Given the description of an element on the screen output the (x, y) to click on. 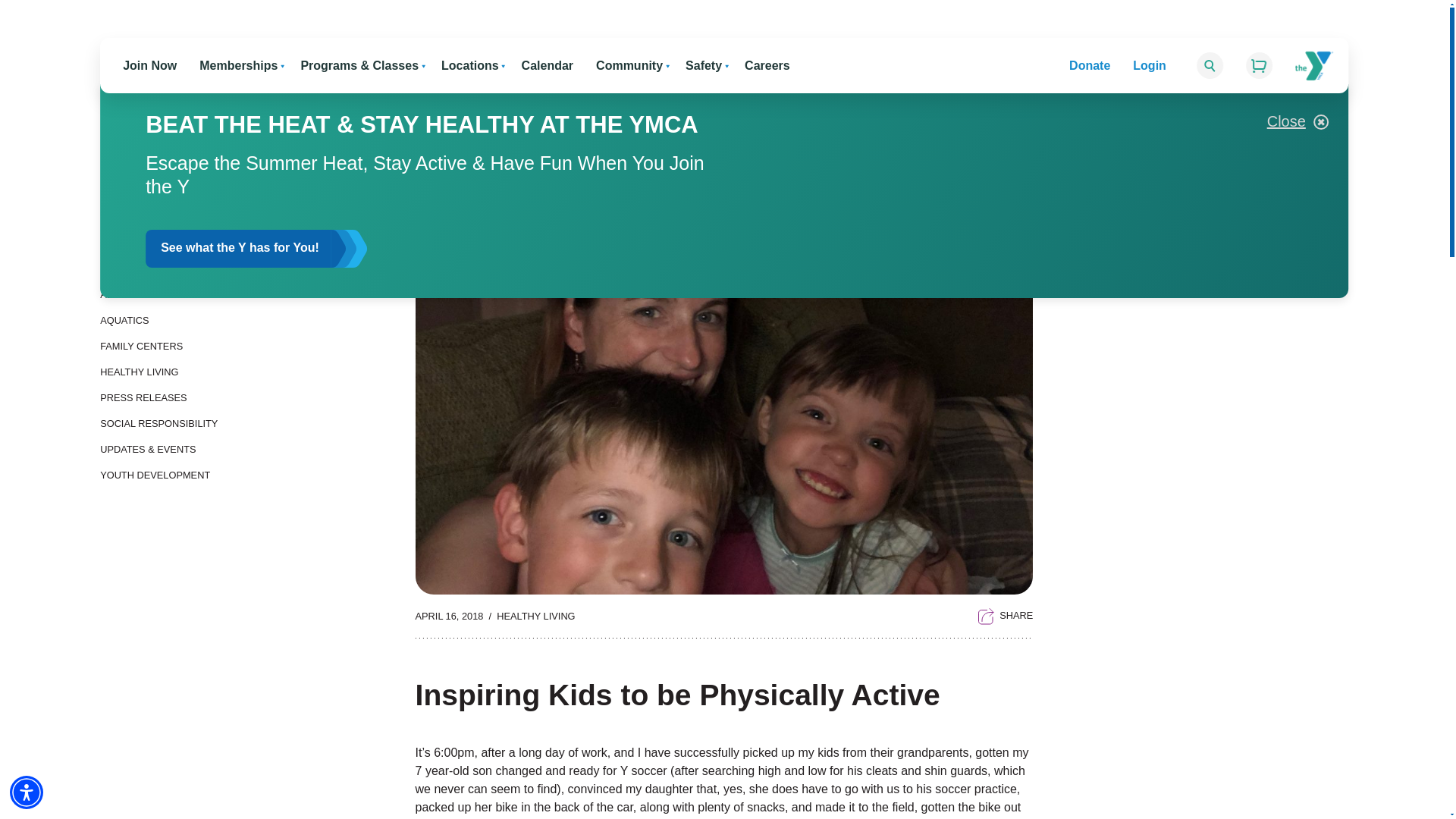
Join Now (149, 65)
Accessibility Menu (26, 792)
Memberships (238, 65)
Home (1367, 105)
